Given the description of an element on the screen output the (x, y) to click on. 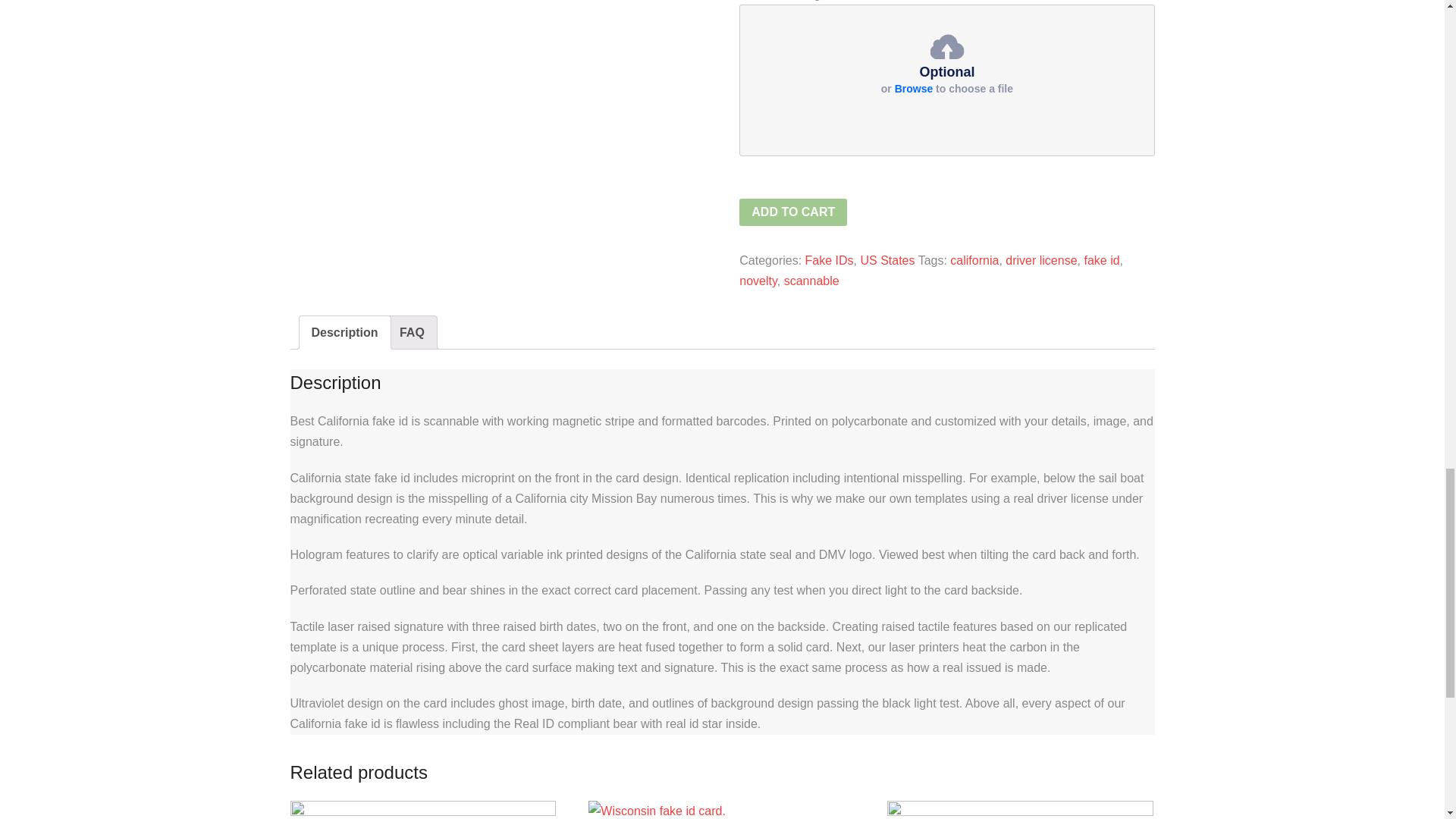
novelty (758, 280)
fake id (1101, 259)
ADD TO CART (793, 212)
Fake IDs (829, 259)
scannable (812, 280)
US States (887, 259)
driver license (1041, 259)
california (974, 259)
